Given the description of an element on the screen output the (x, y) to click on. 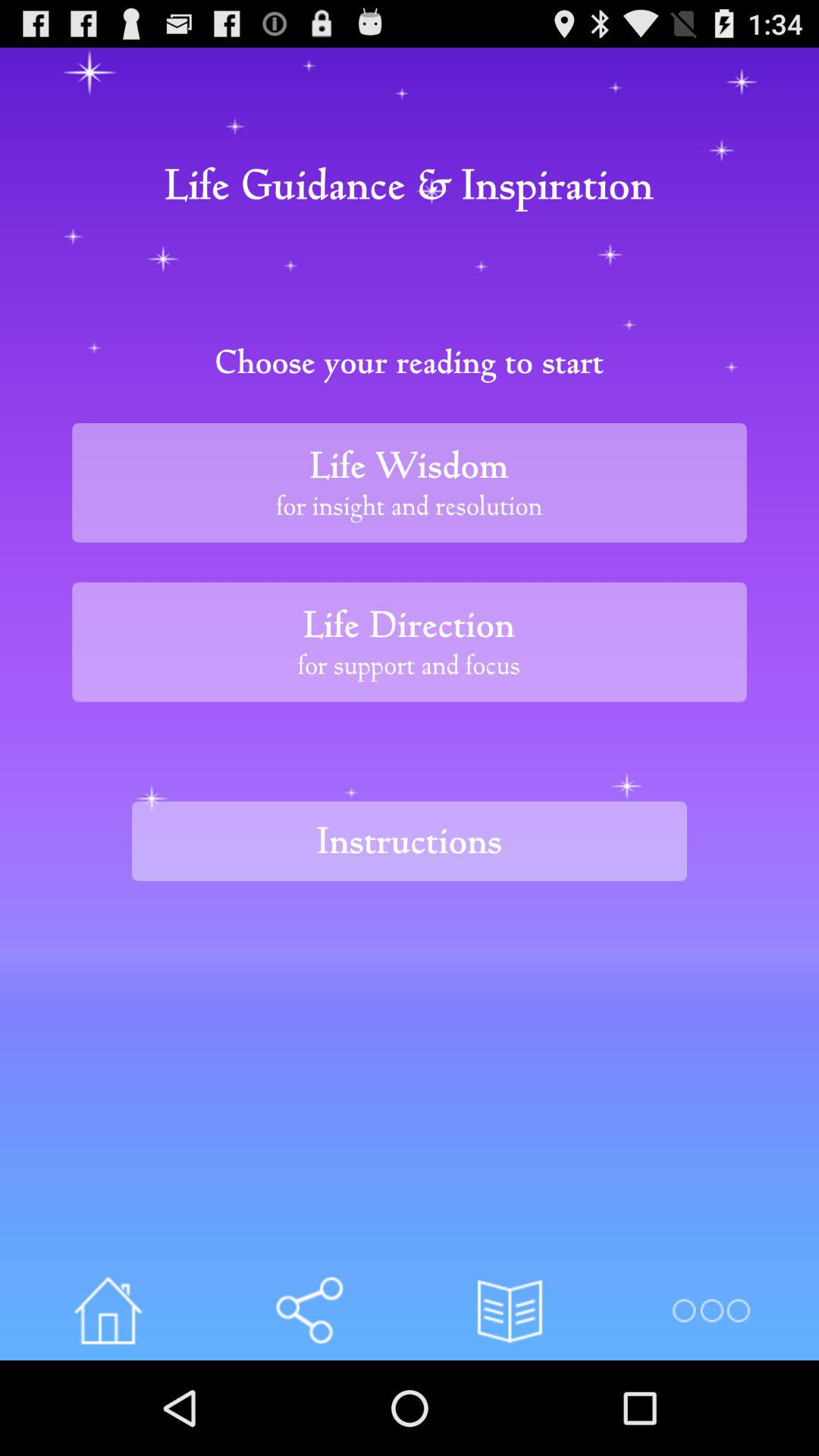
read option (509, 1310)
